Given the description of an element on the screen output the (x, y) to click on. 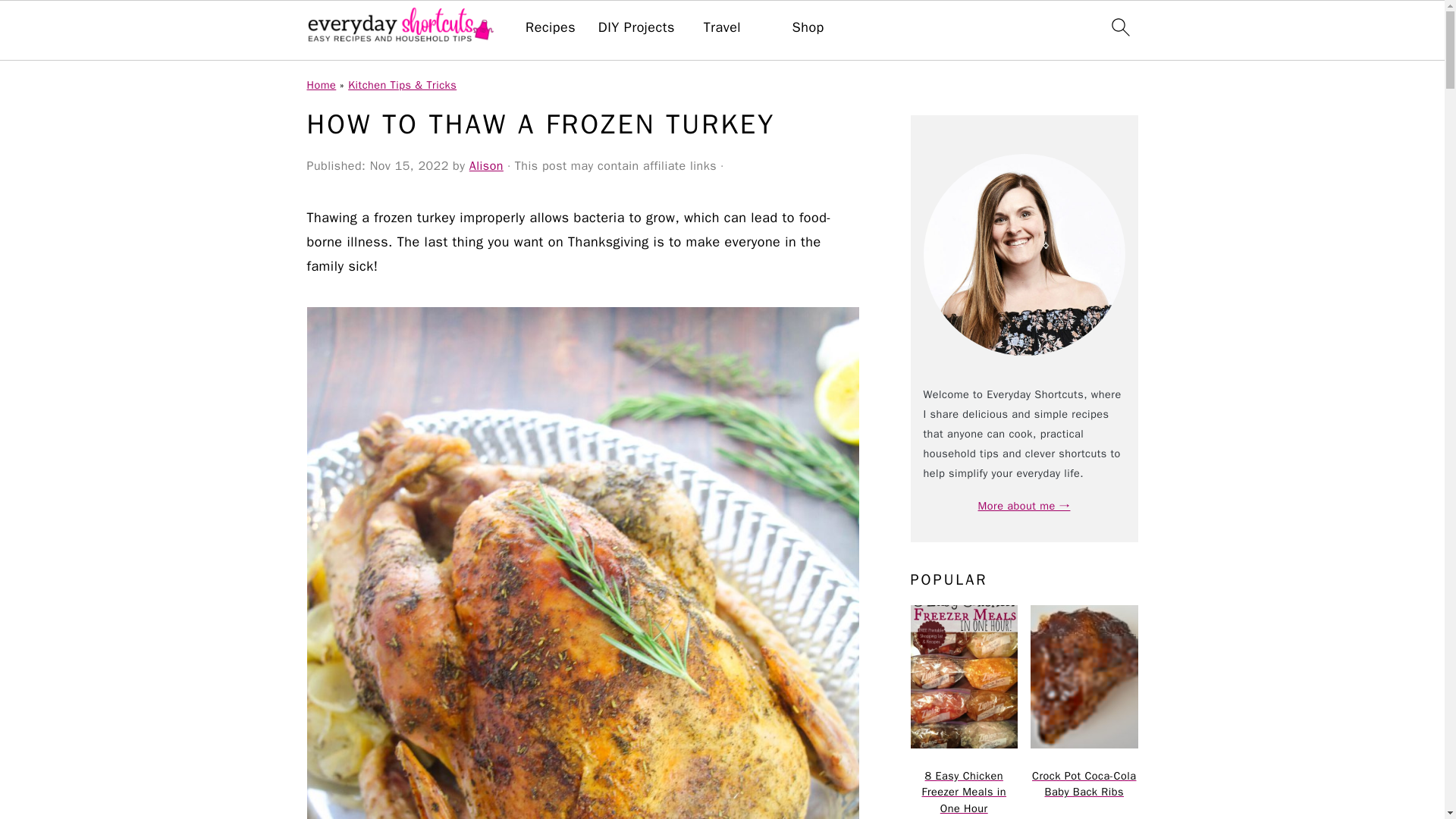
Recipes (550, 27)
search icon (1119, 26)
Alison (485, 165)
DIY Projects (636, 27)
Shop (808, 27)
Travel (722, 27)
Home (320, 84)
